Given the description of an element on the screen output the (x, y) to click on. 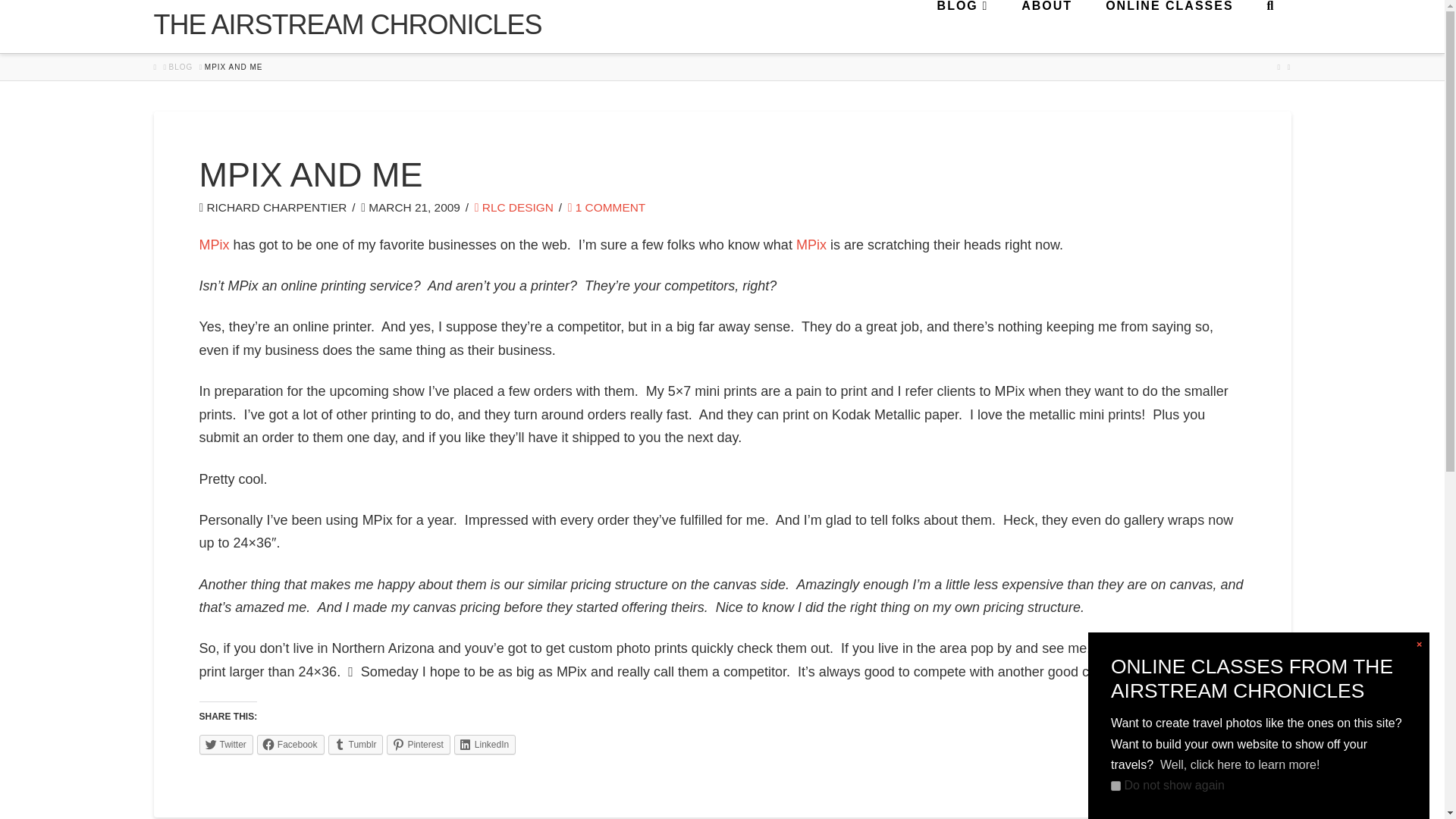
RLC DESIGN (513, 206)
Click to share on Twitter (224, 744)
Tumblr (356, 744)
Click to share on Facebook (290, 744)
MPIX AND ME (234, 67)
MPix (213, 244)
Pinterest (418, 744)
1 (1115, 786)
ABOUT (1045, 26)
You Are Here (234, 67)
BLOG (180, 67)
LinkedIn (484, 744)
Twitter (224, 744)
THE AIRSTREAM CHRONICLES (346, 24)
BLOG (962, 26)
